Given the description of an element on the screen output the (x, y) to click on. 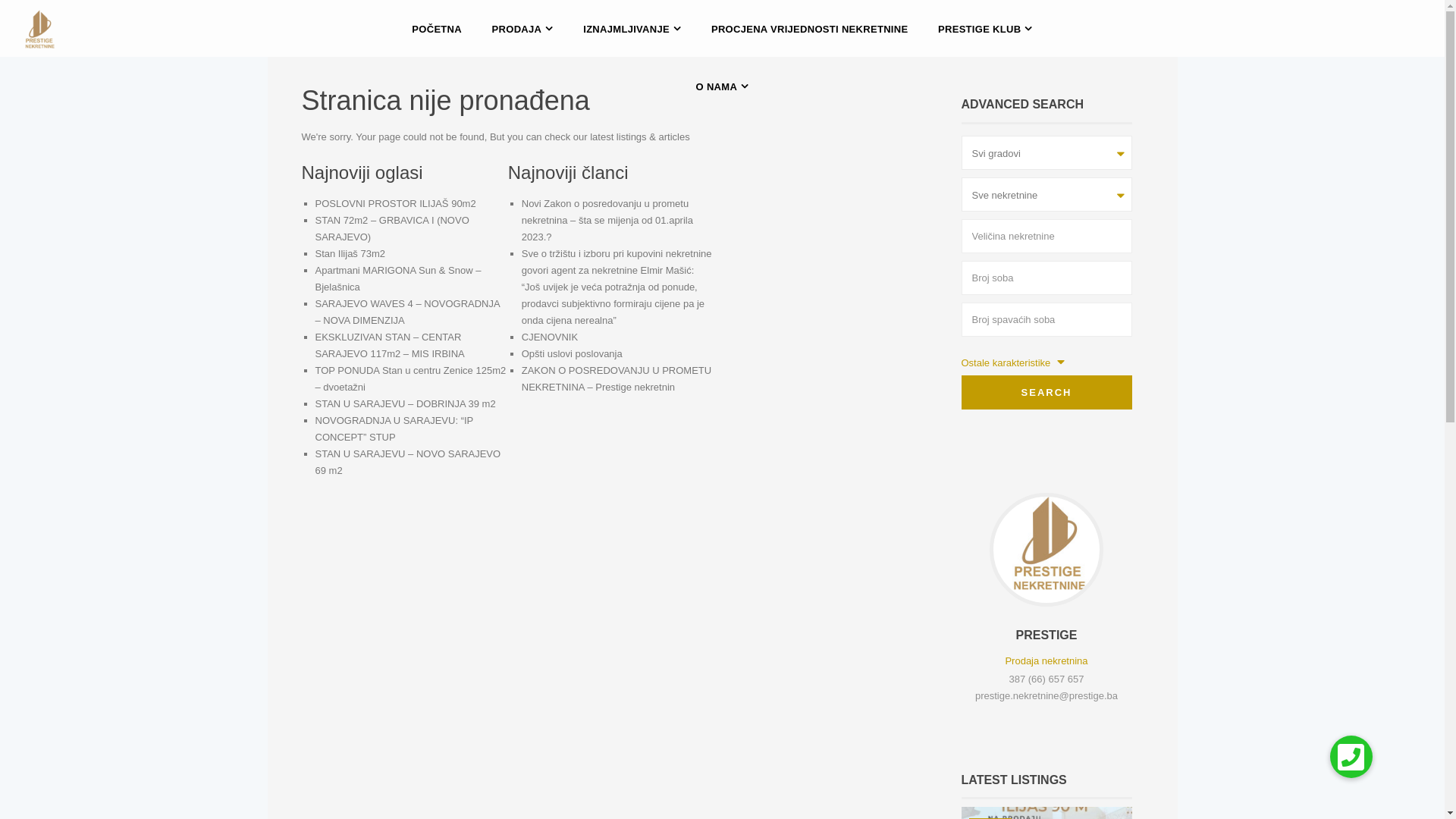
387 (66) 657 657 Element type: text (1045, 678)
CJENOVNIK Element type: text (549, 336)
PRESTIGE Element type: text (1046, 635)
SEARCH Element type: text (1046, 392)
IZNAJMLJIVANJE Element type: text (631, 28)
PRESTIGE KLUB Element type: text (985, 28)
PROCJENA VRIJEDNOSTI NEKRETNINE Element type: text (809, 28)
O NAMA Element type: text (722, 86)
prestige.nekretnine@prestige.ba Element type: text (1046, 695)
PRODAJA Element type: text (522, 28)
